Given the description of an element on the screen output the (x, y) to click on. 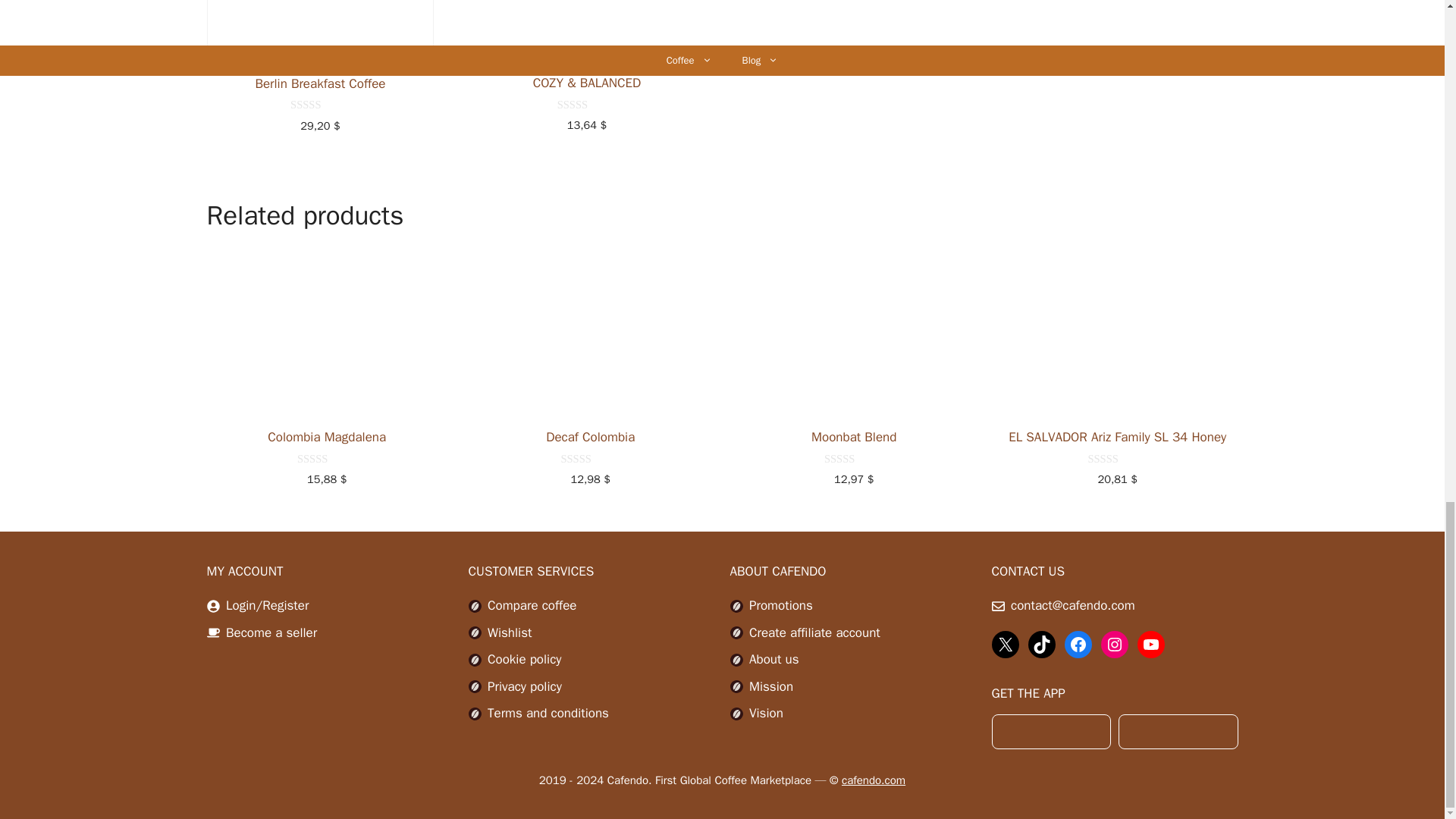
Cafendo Logo Small Cafendo Logo Small (474, 605)
Not yet rated (326, 459)
Not yet rated (319, 104)
Cafendo Logo Small Cafendo Logo Small (474, 659)
Cafendo Logo Small Cafendo Logo Small (474, 713)
Cafendo Logo Small Cafendo Logo Small (735, 686)
Cafendo Logo Small Cafendo Logo Small (735, 605)
Not yet rated (590, 459)
Cafendo Logo Small Cafendo Logo Small (735, 632)
Cafendo Logo Small Cafendo Logo Small (735, 713)
